Given the description of an element on the screen output the (x, y) to click on. 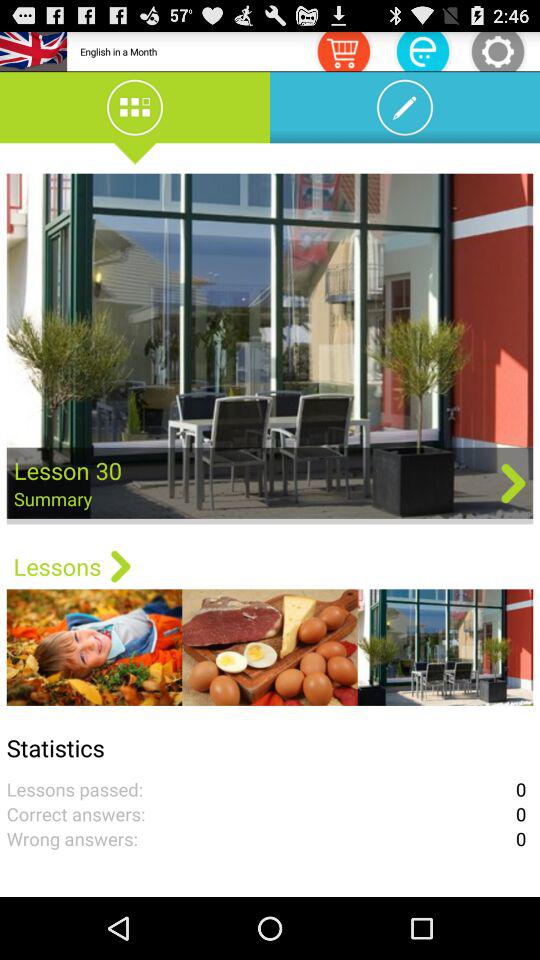
access settings (497, 50)
